Given the description of an element on the screen output the (x, y) to click on. 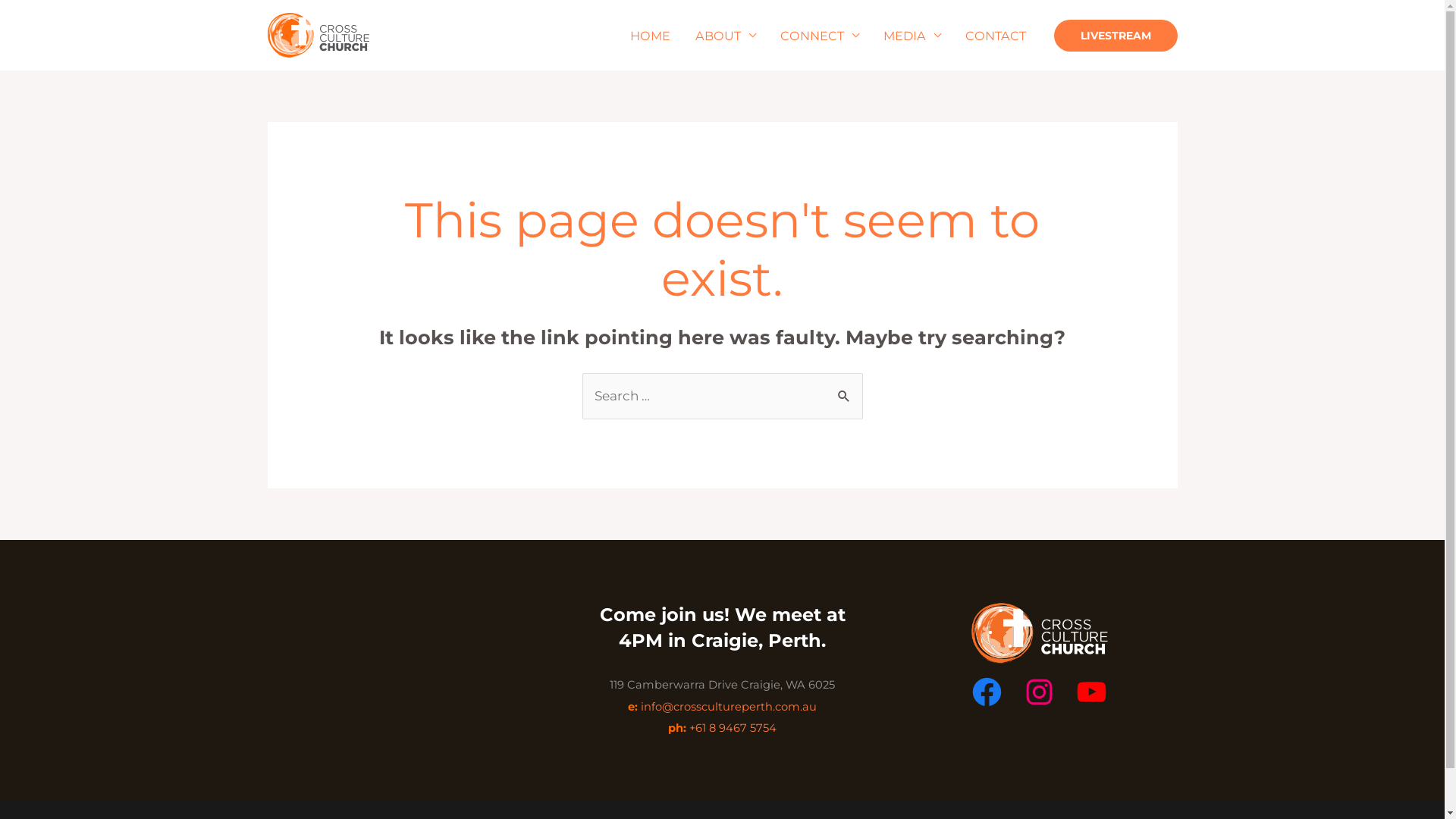
Search Element type: text (845, 388)
ABOUT Element type: text (724, 35)
YouTube Element type: text (1091, 691)
info@crosscultureperth.com.au Element type: text (728, 706)
MEDIA Element type: text (912, 35)
CONTACT Element type: text (995, 35)
Facebook Element type: text (986, 691)
CONNECT Element type: text (819, 35)
+61 8 9467 5754 Element type: text (732, 727)
HOME Element type: text (650, 35)
Instagram Element type: text (1039, 691)
LIVESTREAM Element type: text (1115, 35)
